Given the description of an element on the screen output the (x, y) to click on. 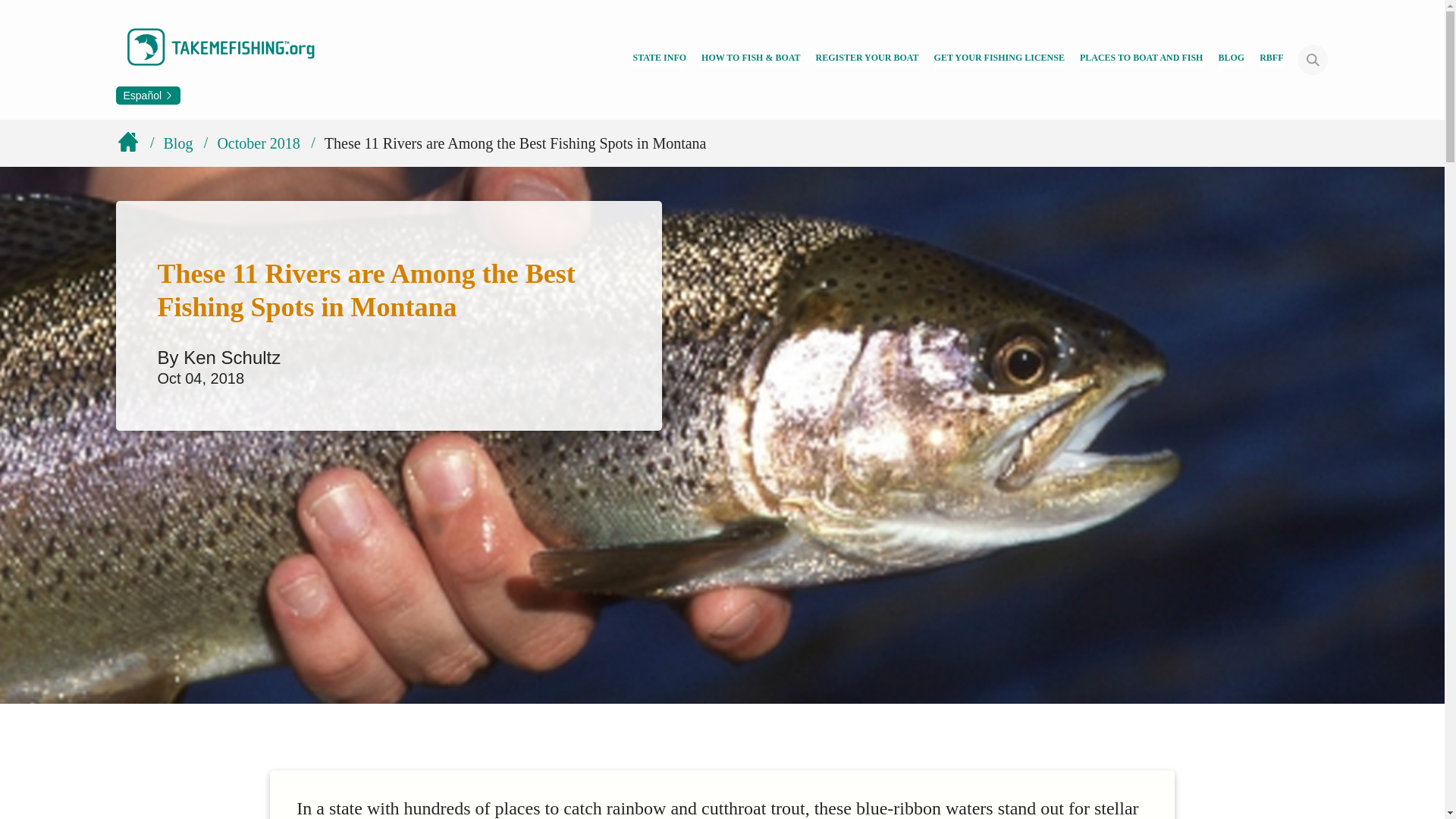
Blog (1230, 59)
RBFF (1270, 59)
PLACES TO BOAT AND FISH (1142, 59)
RBFF (1270, 59)
REGISTER YOUR BOAT (866, 59)
BLOG (1230, 59)
Register Your Boat (866, 59)
Get Your Fishing License (999, 59)
GET YOUR FISHING LICENSE (999, 59)
Places To Boat And Fish (1142, 59)
